Given the description of an element on the screen output the (x, y) to click on. 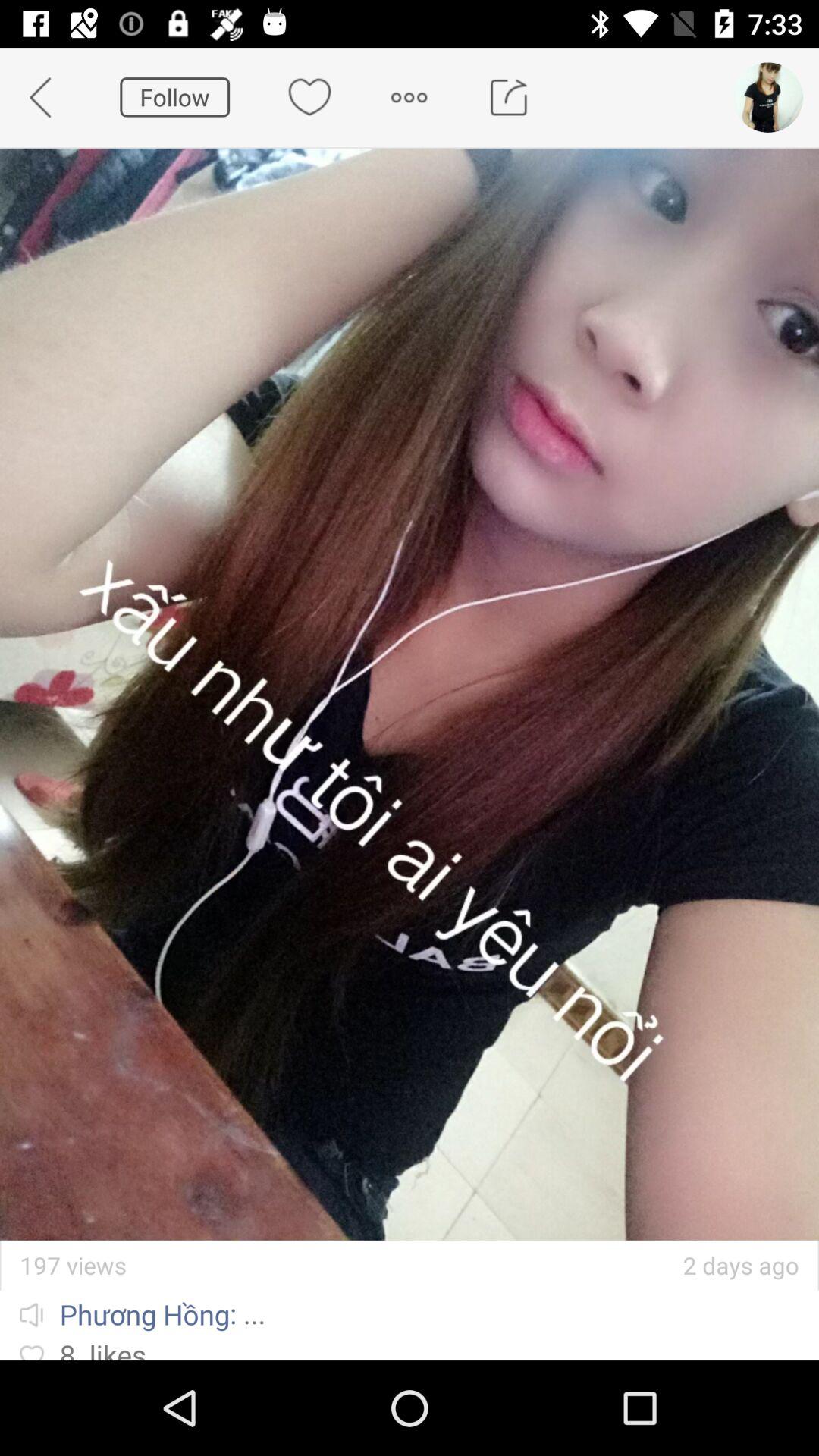
choose the app to the left of follow (49, 97)
